Given the description of an element on the screen output the (x, y) to click on. 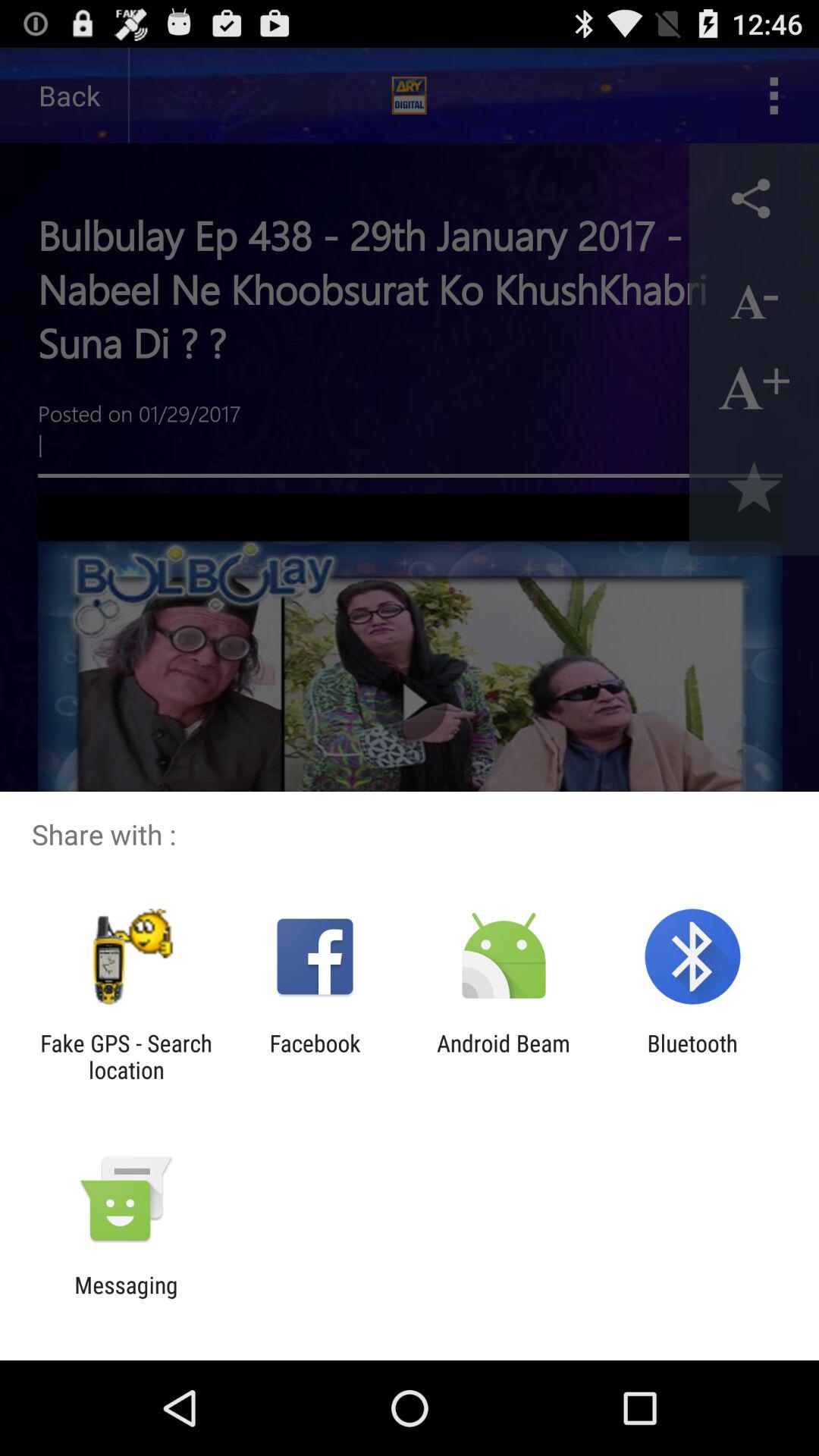
click icon next to the fake gps search (314, 1056)
